Given the description of an element on the screen output the (x, y) to click on. 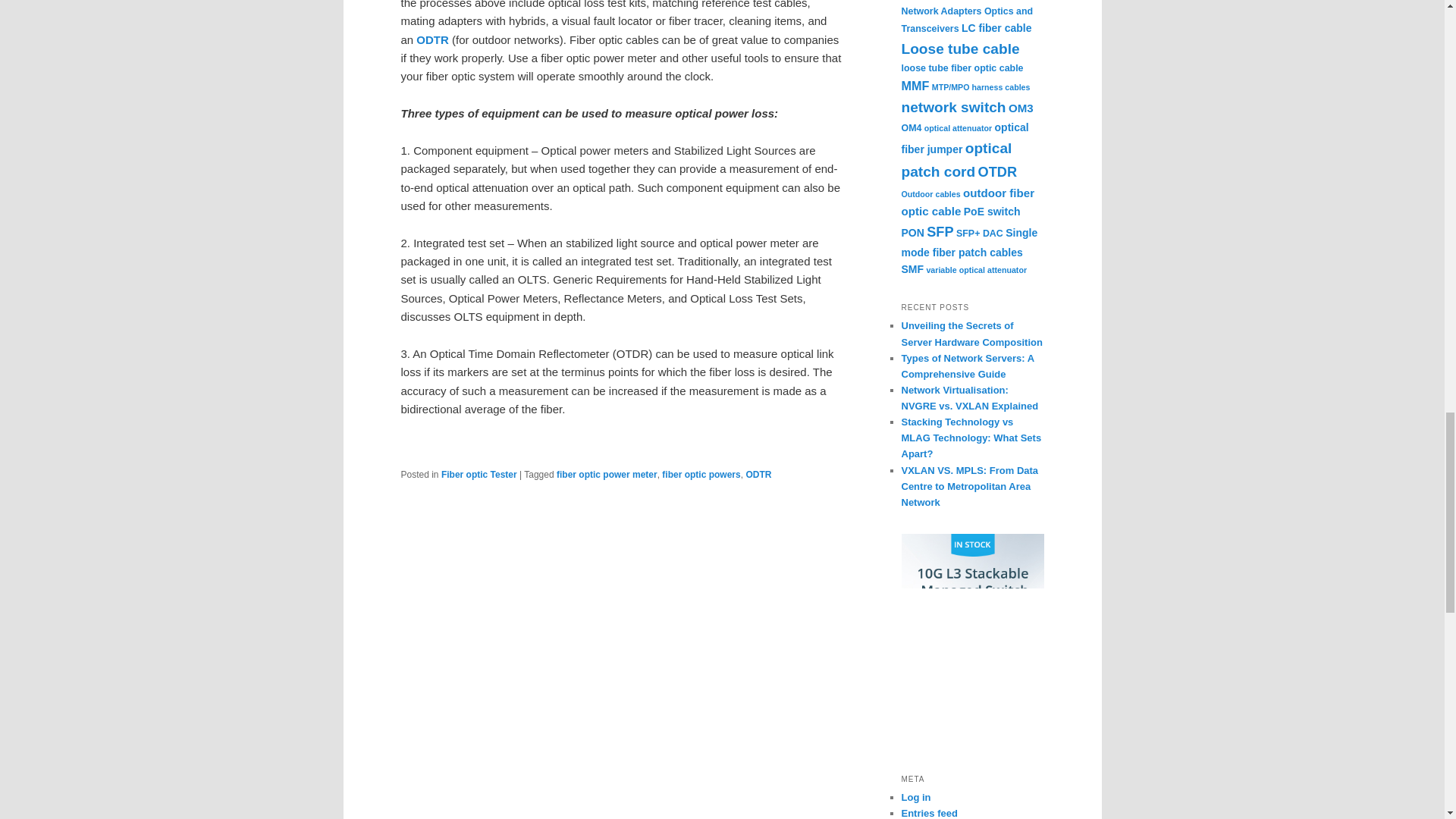
ODTR (432, 39)
fiber optic powers (700, 474)
fiber optic power meter (607, 474)
ODTR (758, 474)
Fiber optic Tester (478, 474)
